Given the description of an element on the screen output the (x, y) to click on. 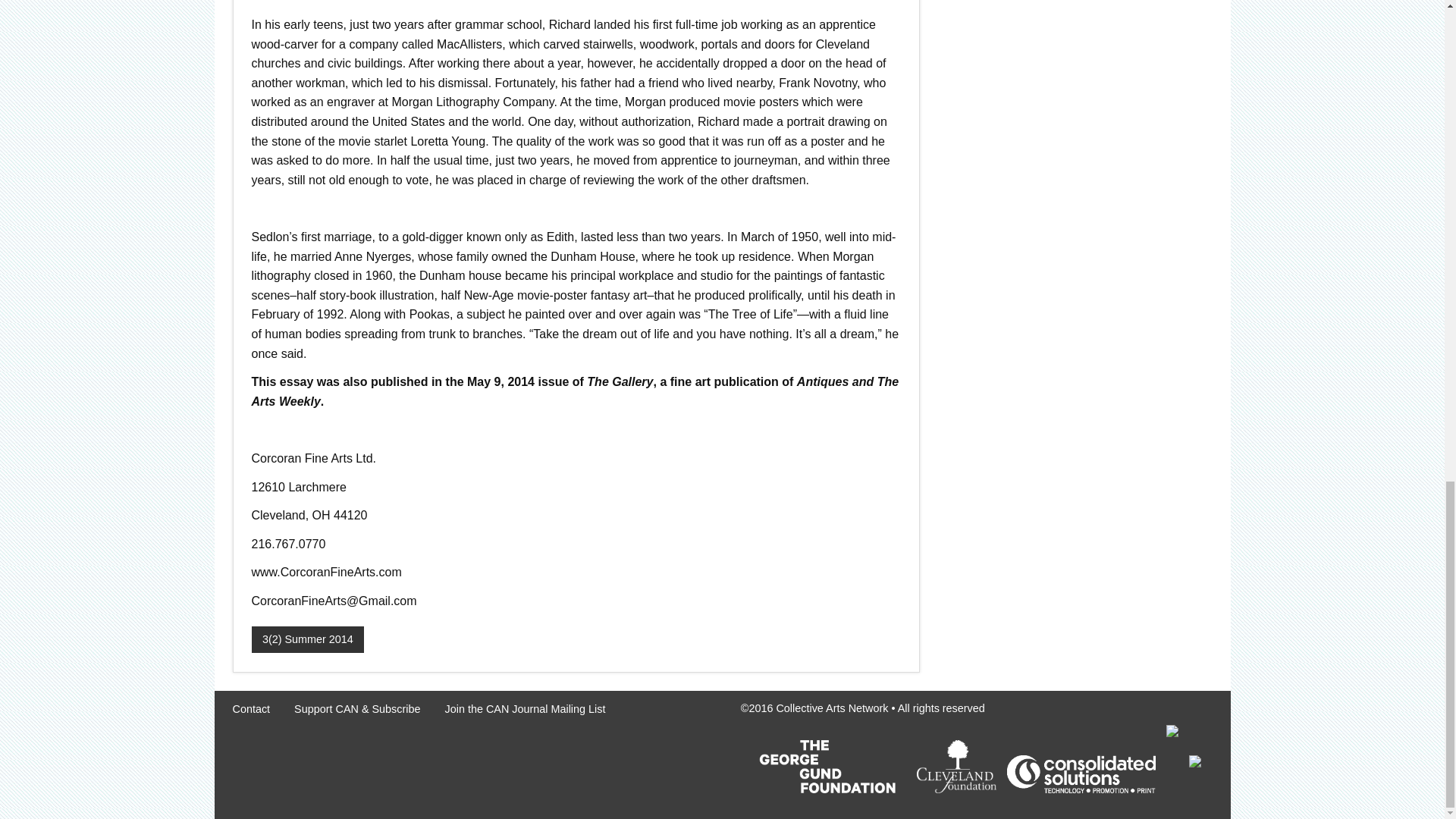
Contact (250, 708)
Join the CAN Journal Mailing List (524, 708)
